Given the description of an element on the screen output the (x, y) to click on. 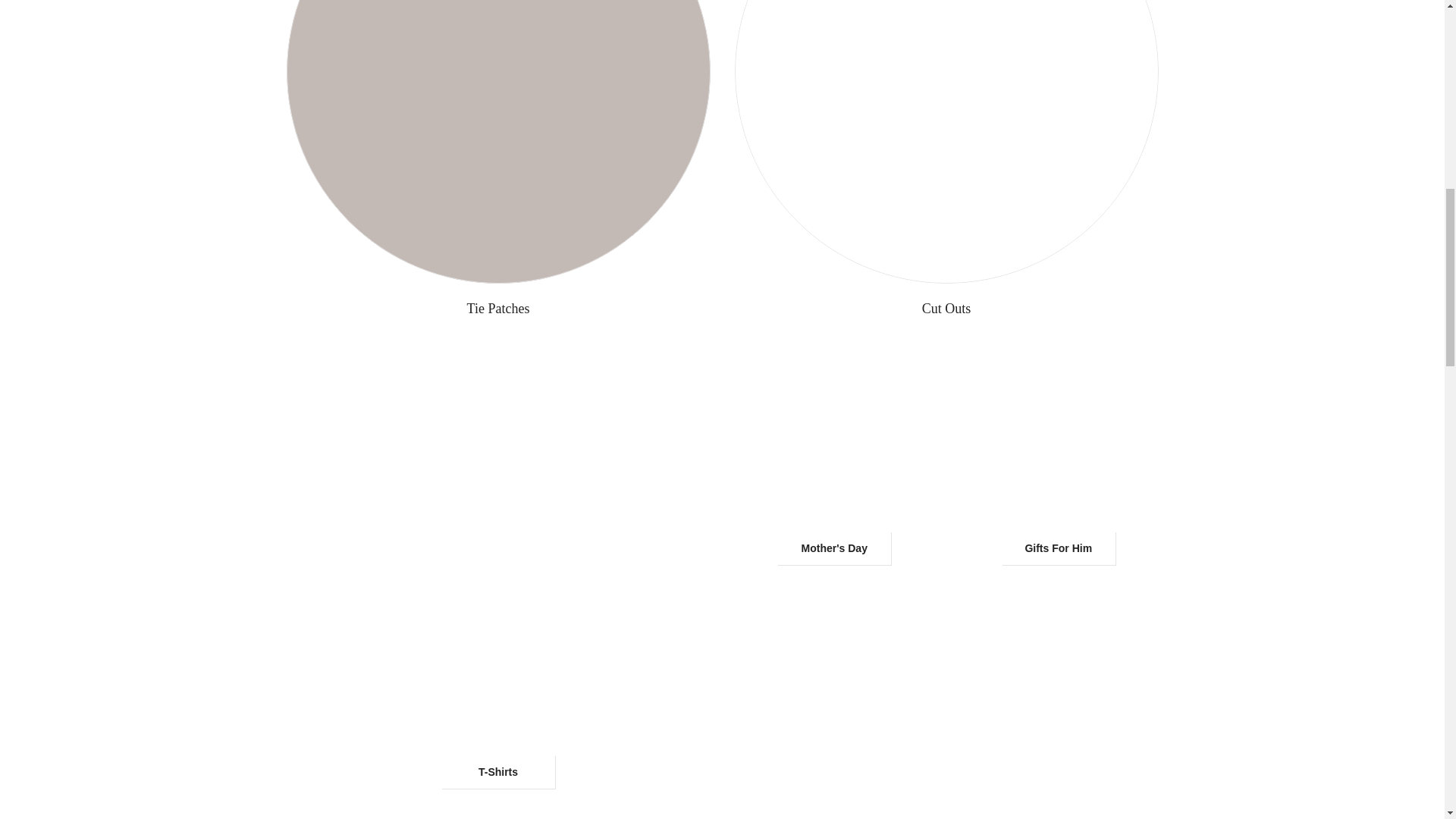
Gifts For Him (1058, 547)
Mother's Day (834, 547)
T-Shirts (497, 771)
Cut Outs (945, 308)
Tie Patches (497, 308)
